Given the description of an element on the screen output the (x, y) to click on. 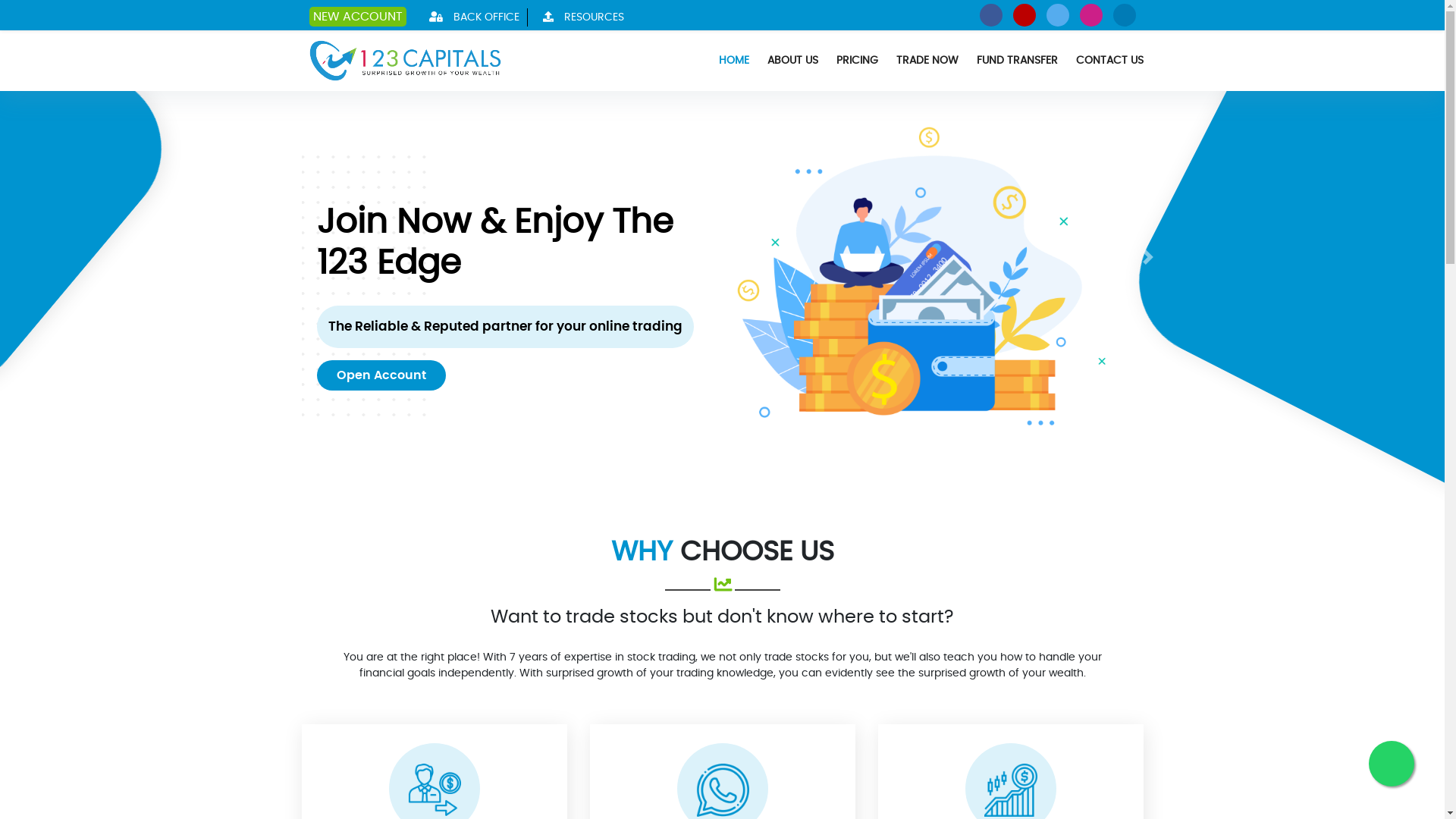
BACK OFFICE Element type: text (470, 17)
ABOUT US Element type: text (792, 60)
TRADE NOW Element type: text (927, 60)
RESOURCES Element type: text (579, 17)
FUND TRANSFER Element type: text (1016, 60)
Previous Element type: text (296, 256)
NEW ACCOUNT Element type: text (357, 16)
HOME Element type: text (733, 60)
Next Element type: text (1148, 256)
PRICING Element type: text (856, 60)
CONTACT US Element type: text (1108, 60)
Open Account Element type: text (380, 374)
